Given the description of an element on the screen output the (x, y) to click on. 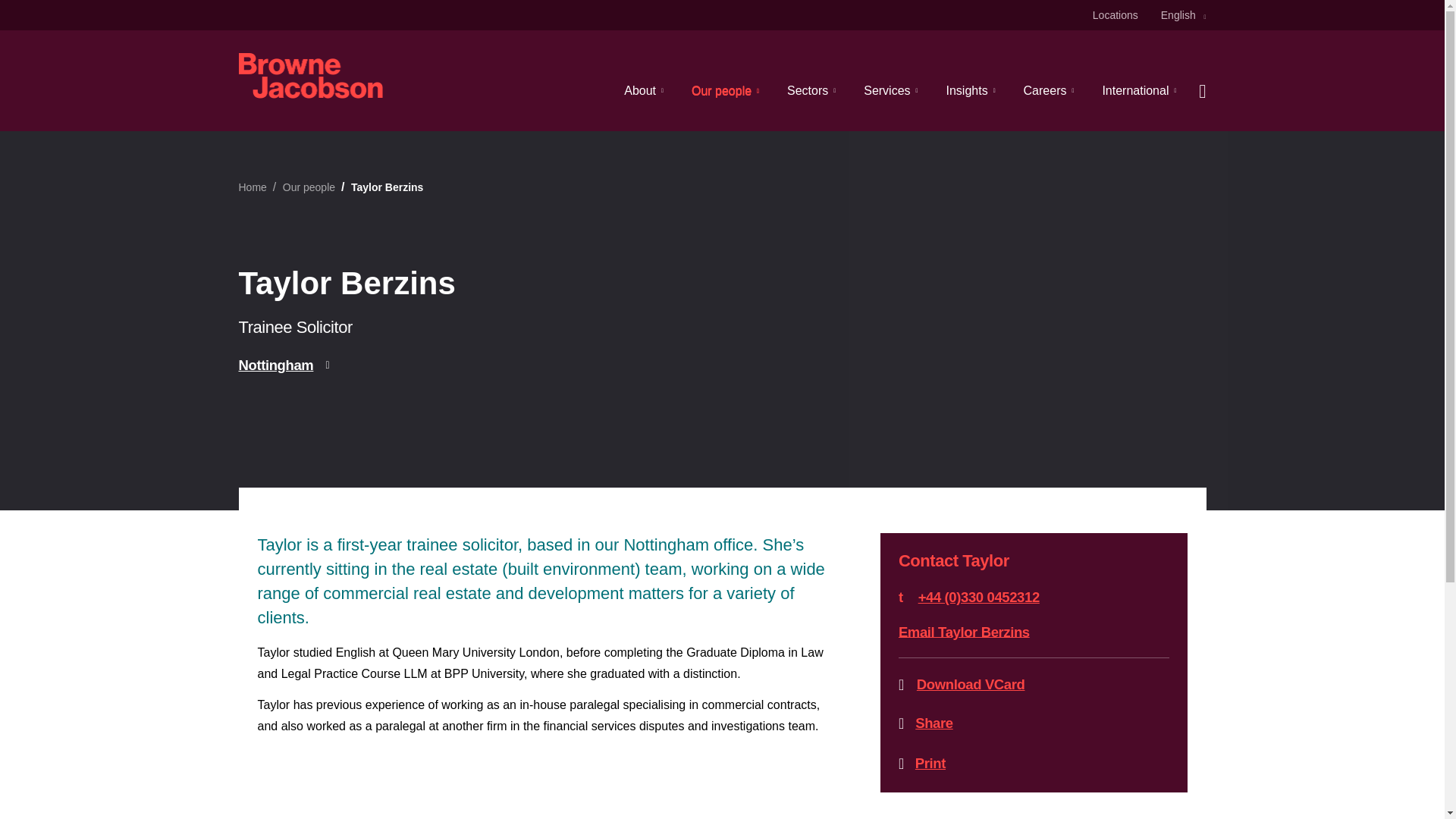
English (1183, 15)
About (643, 90)
Locations (1115, 15)
